Given the description of an element on the screen output the (x, y) to click on. 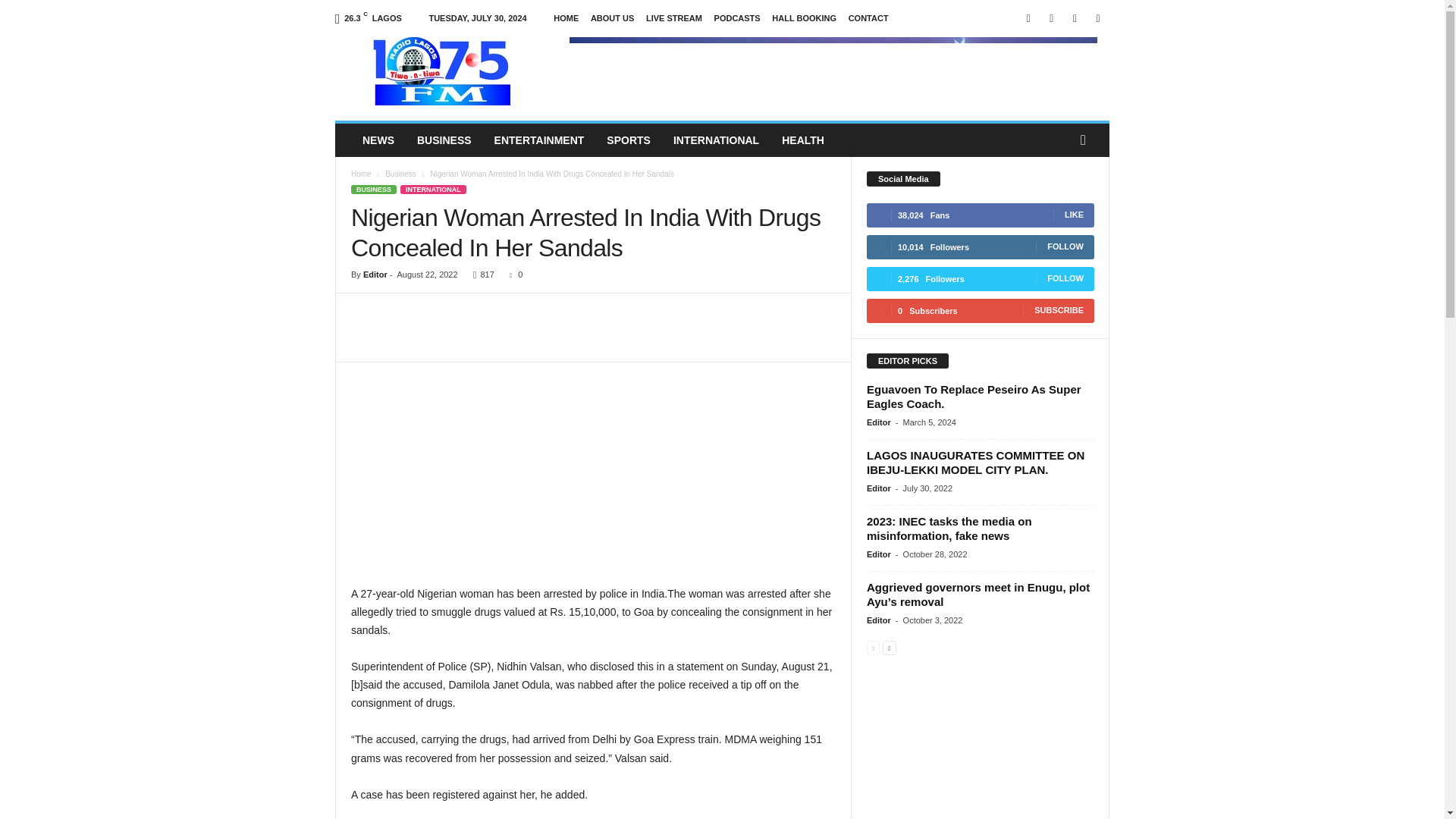
NEWS (378, 140)
PODCASTS (737, 17)
BUSINESS (444, 140)
HALL BOOKING (803, 17)
ABOUT US (612, 17)
LIVE STREAM (673, 17)
CONTACT (868, 17)
HOME (565, 17)
Radio Lagos 107.5FM (437, 70)
